Given the description of an element on the screen output the (x, y) to click on. 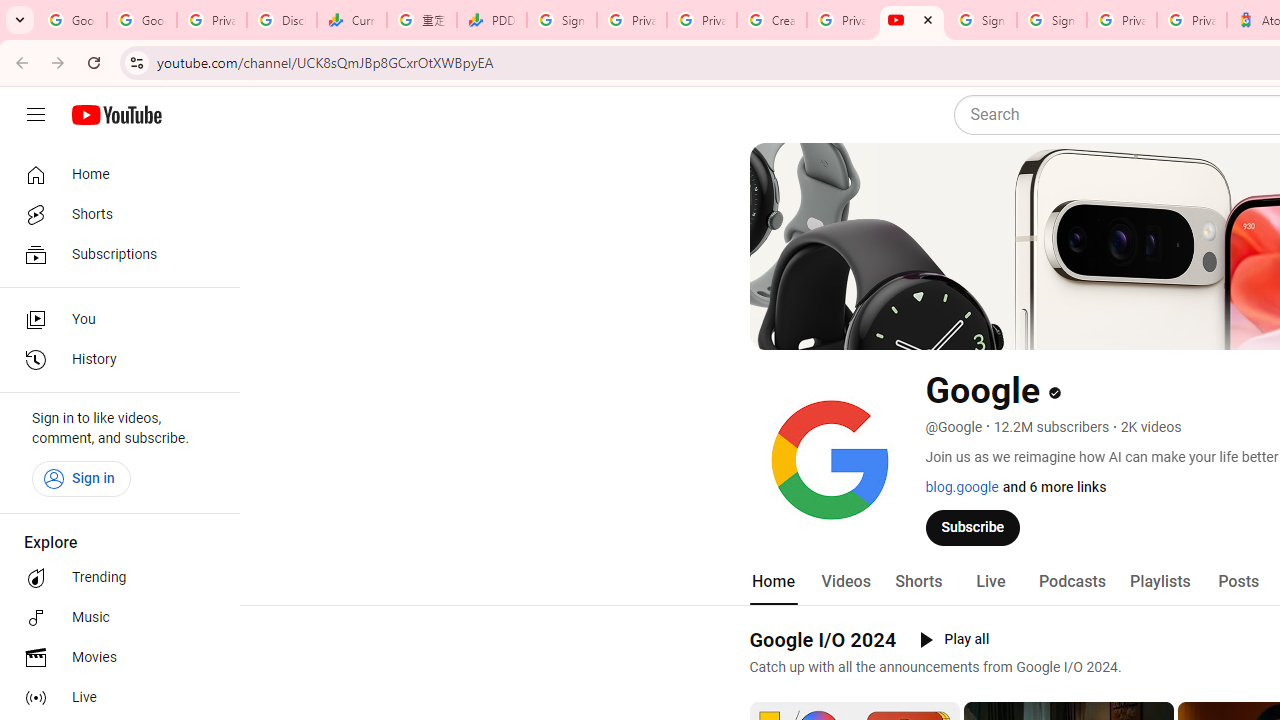
Privacy Checkup (701, 20)
Sign in - Google Accounts (1051, 20)
YouTube Home (116, 115)
